Given the description of an element on the screen output the (x, y) to click on. 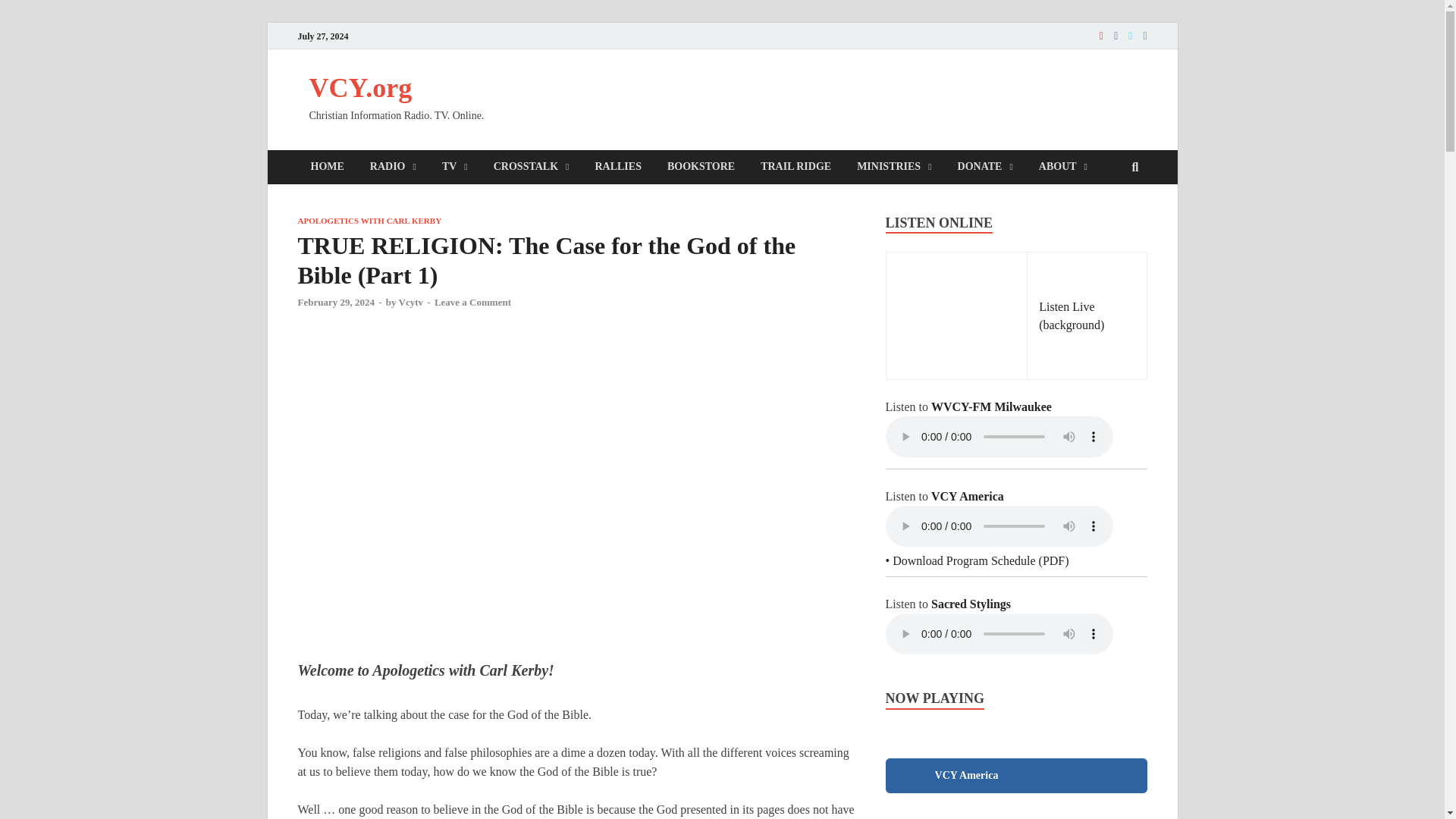
VCY.org (360, 87)
HOME (326, 166)
RADIO (392, 166)
Listen on Online Radio Box! (1130, 778)
